Given the description of an element on the screen output the (x, y) to click on. 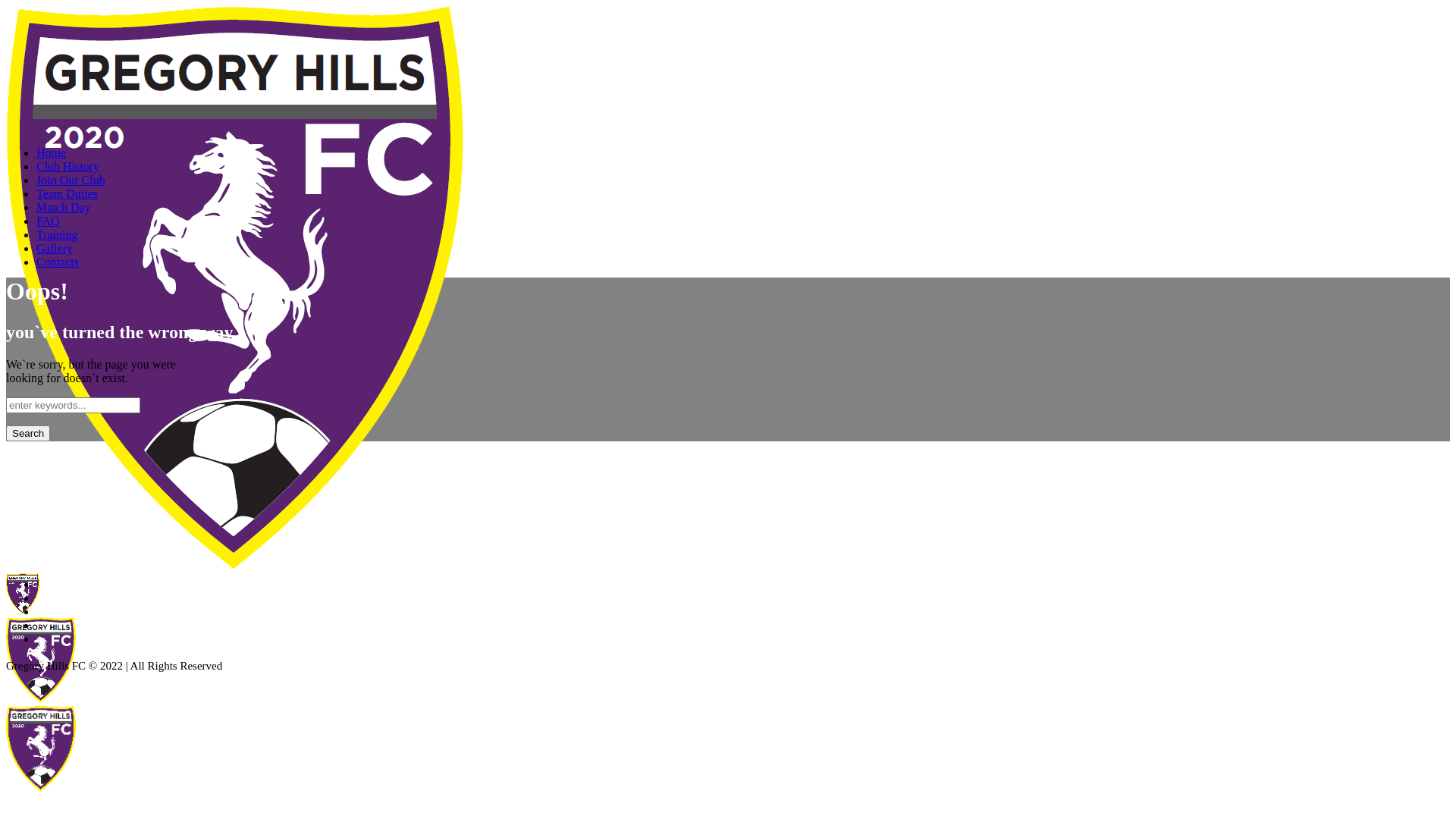
Contacts Element type: text (57, 261)
Search Element type: text (28, 433)
Training Element type: text (57, 234)
Club History Element type: text (67, 166)
Match Day Element type: text (63, 206)
Gallery Element type: text (54, 247)
Join Our Club Element type: text (70, 179)
Home Element type: text (50, 152)
Team Duties Element type: text (66, 193)
FAQ Element type: text (47, 220)
Gregory Hills FC Element type: hover (235, 676)
